Given the description of an element on the screen output the (x, y) to click on. 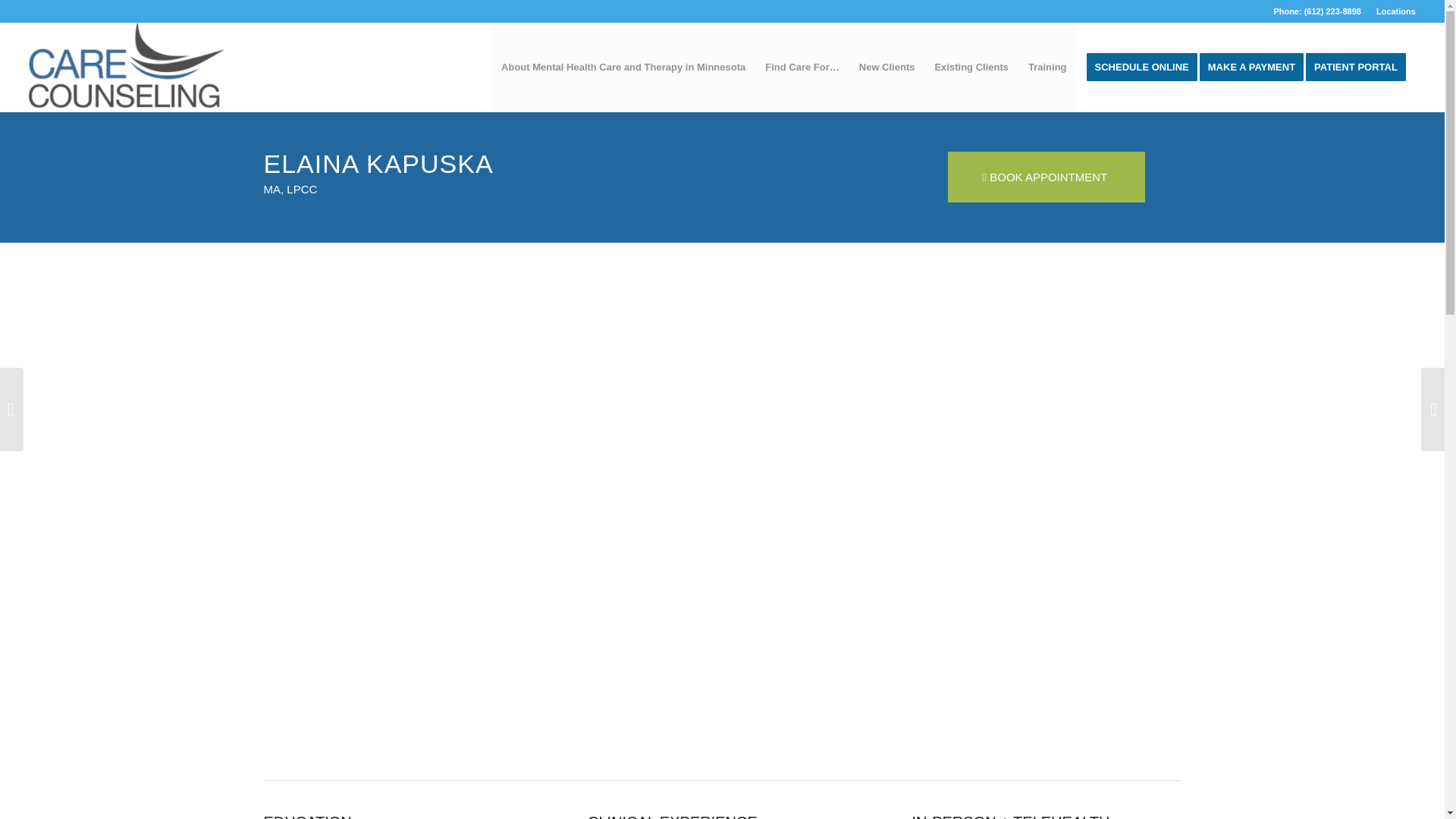
Existing Clients (970, 67)
Locations (1395, 11)
About Mental Health Care and Therapy in Minnesota (623, 67)
